Given the description of an element on the screen output the (x, y) to click on. 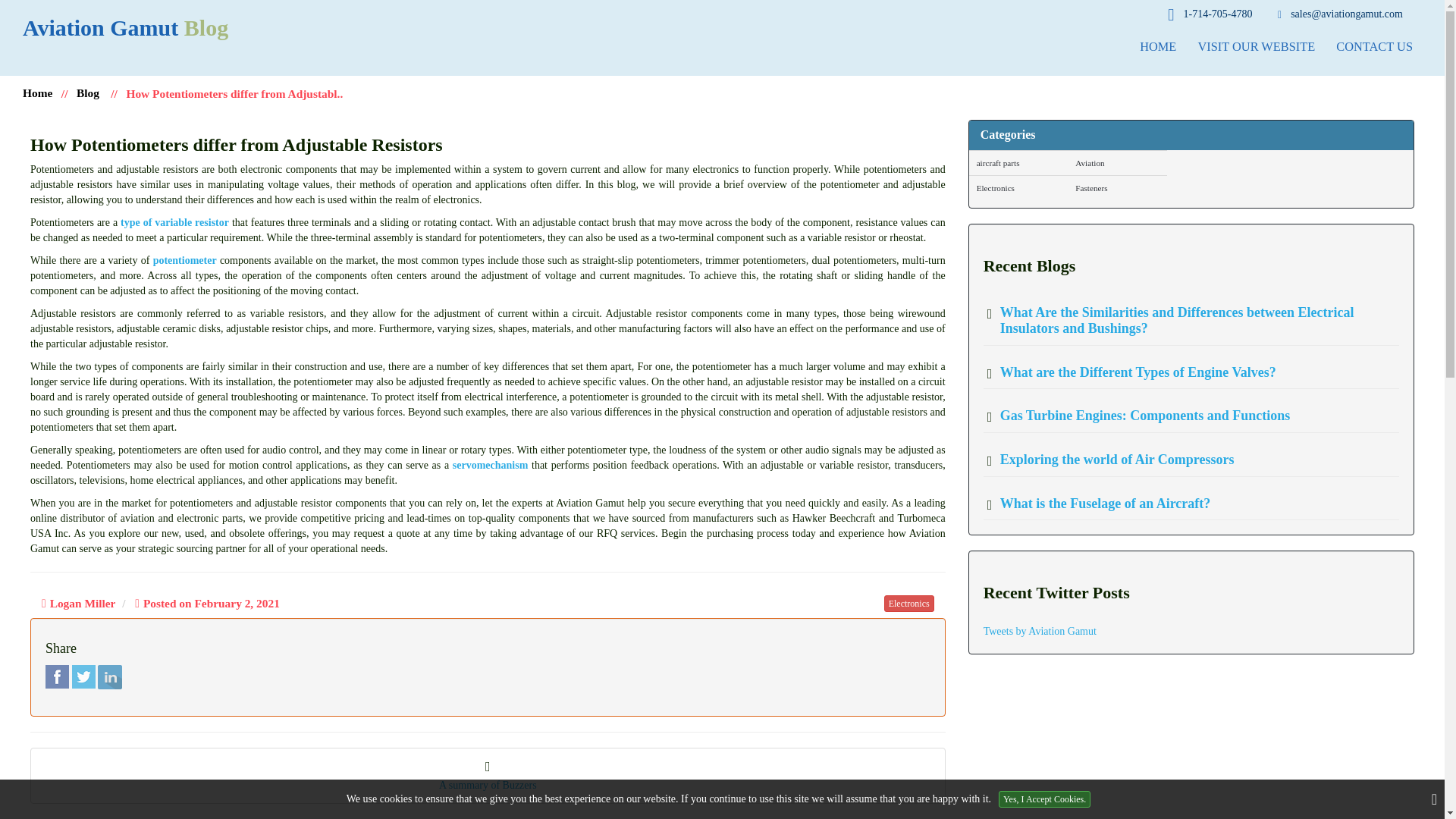
type of variable resistor (174, 222)
  1-714-705-4780 (1209, 15)
Aviation (1117, 162)
HOME (1158, 46)
Tweets by Aviation Gamut (1040, 631)
CONTACT US (1374, 46)
Electronics (908, 603)
Aviation Gamut Blog (125, 27)
Blog (88, 93)
Home (37, 93)
A summary of Buzzers (487, 775)
potentiometer (184, 260)
servomechanism (490, 464)
What are the Different Types of Engine Valves? (1131, 372)
